Given the description of an element on the screen output the (x, y) to click on. 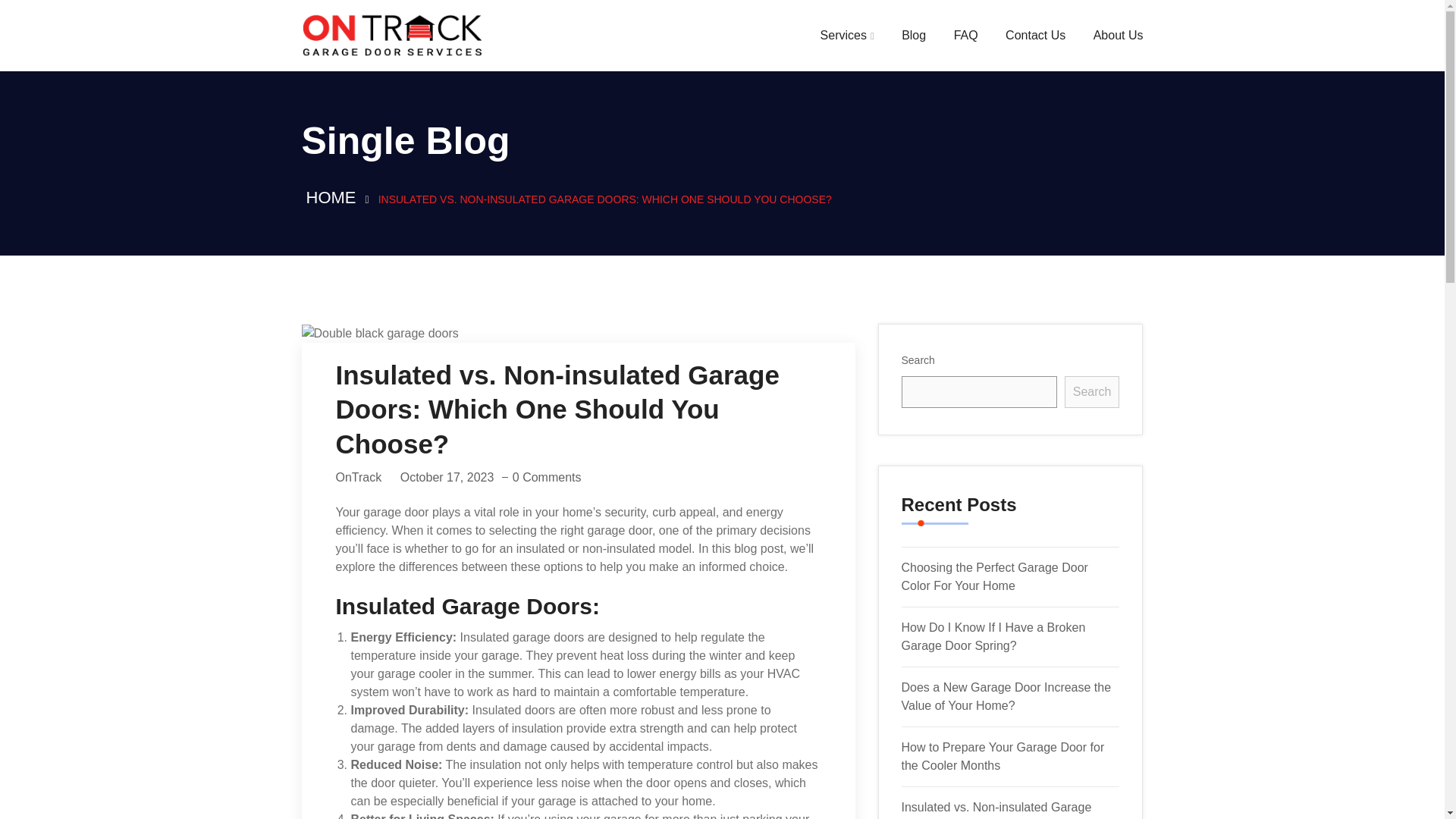
How to Prepare Your Garage Door for the Cooler Months (1002, 756)
Search (1091, 391)
Contact Us (1035, 35)
Does a New Garage Door Increase the Value of Your Home? (1005, 695)
FAQ (965, 35)
About Us (1117, 35)
Choosing the Perfect Garage Door Color For Your Home (994, 576)
Services (848, 35)
Blog (913, 35)
